Given the description of an element on the screen output the (x, y) to click on. 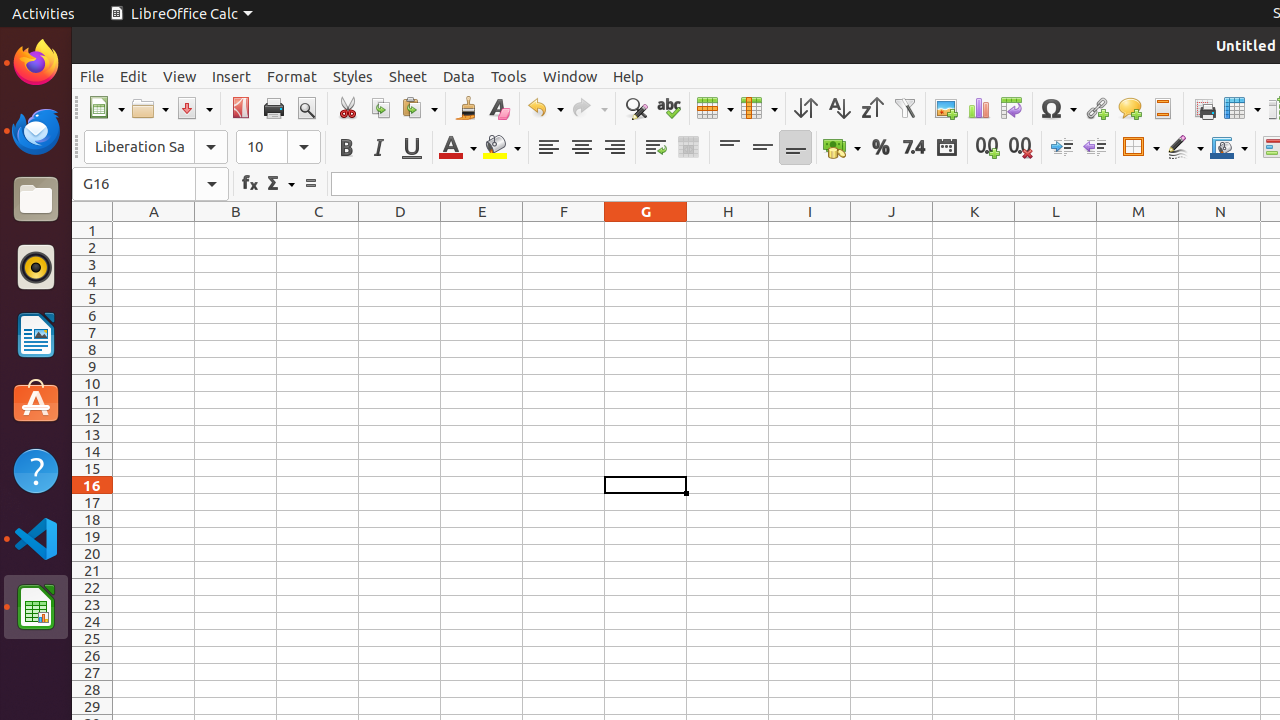
Redo Element type: push-button (589, 108)
Formula Element type: push-button (310, 183)
Save Element type: push-button (194, 108)
Italic Element type: toggle-button (378, 147)
